Given the description of an element on the screen output the (x, y) to click on. 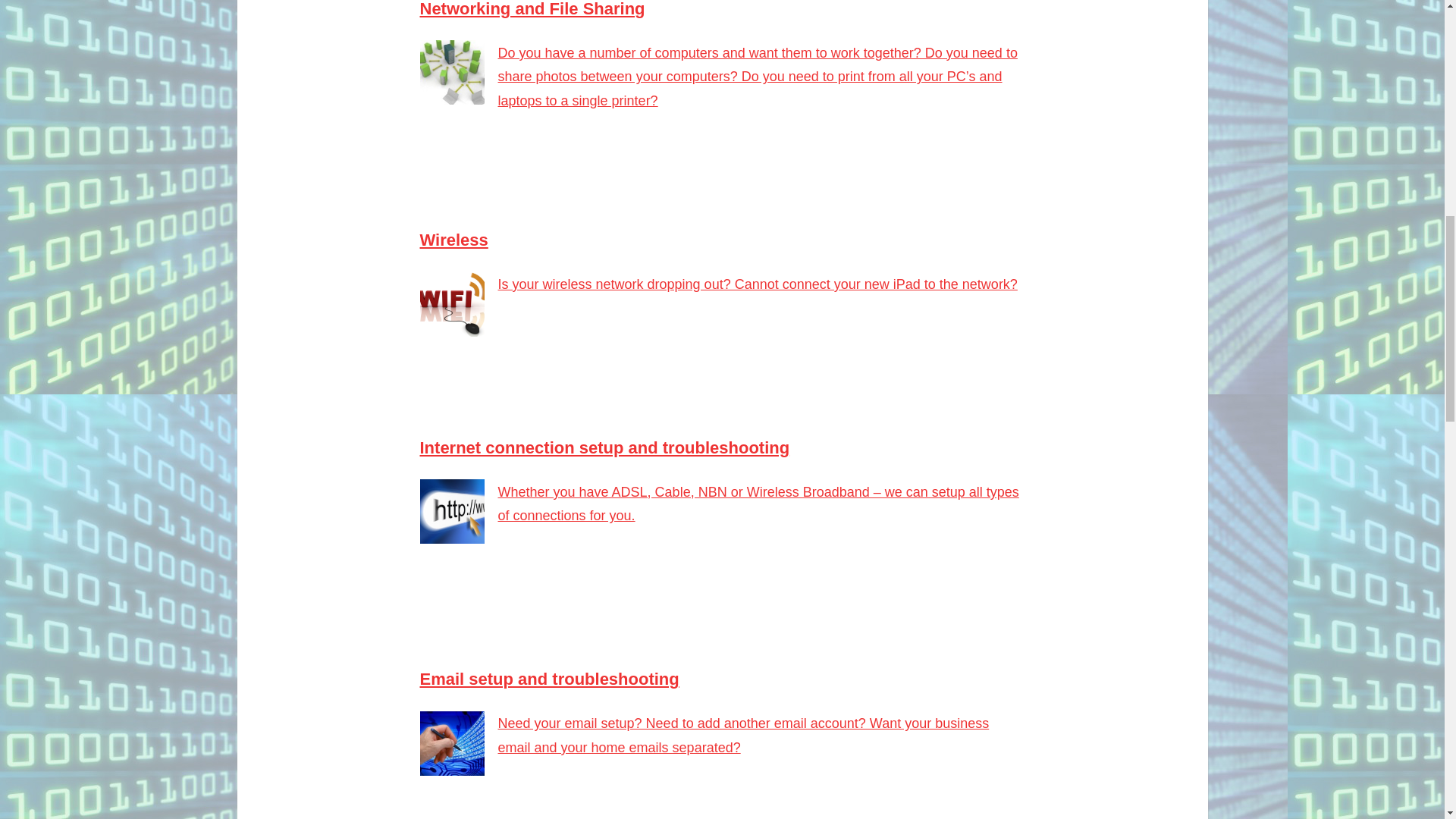
Networking and File Sharing (532, 9)
Wireless (453, 239)
Internet connection setup and troubleshooting (605, 447)
Email setup and troubleshooting (549, 678)
